Given the description of an element on the screen output the (x, y) to click on. 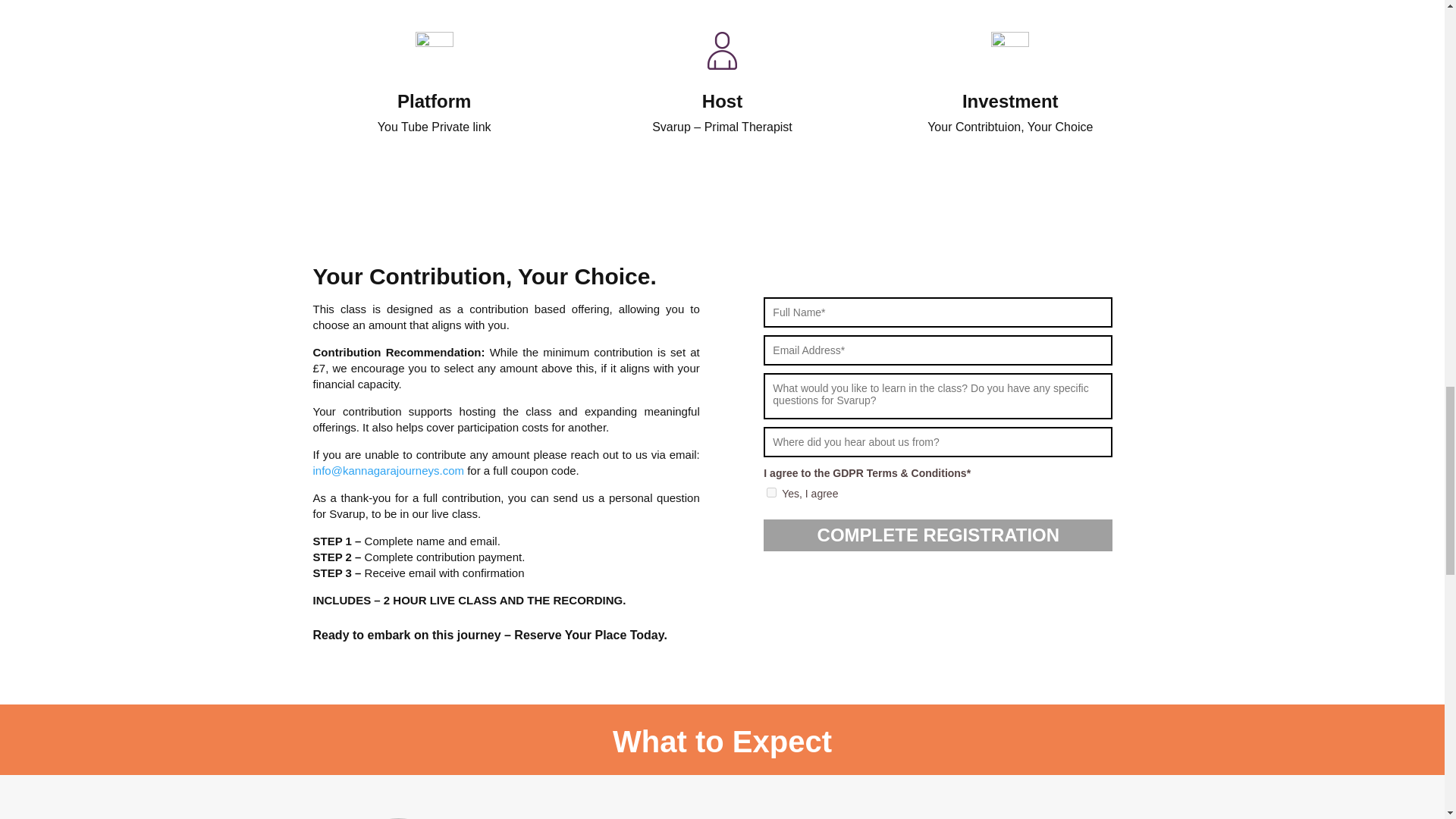
Zoom-Live-Class (433, 50)
Yes, I agree (771, 492)
COMPLETE REGISTRATION (937, 535)
